Given the description of an element on the screen output the (x, y) to click on. 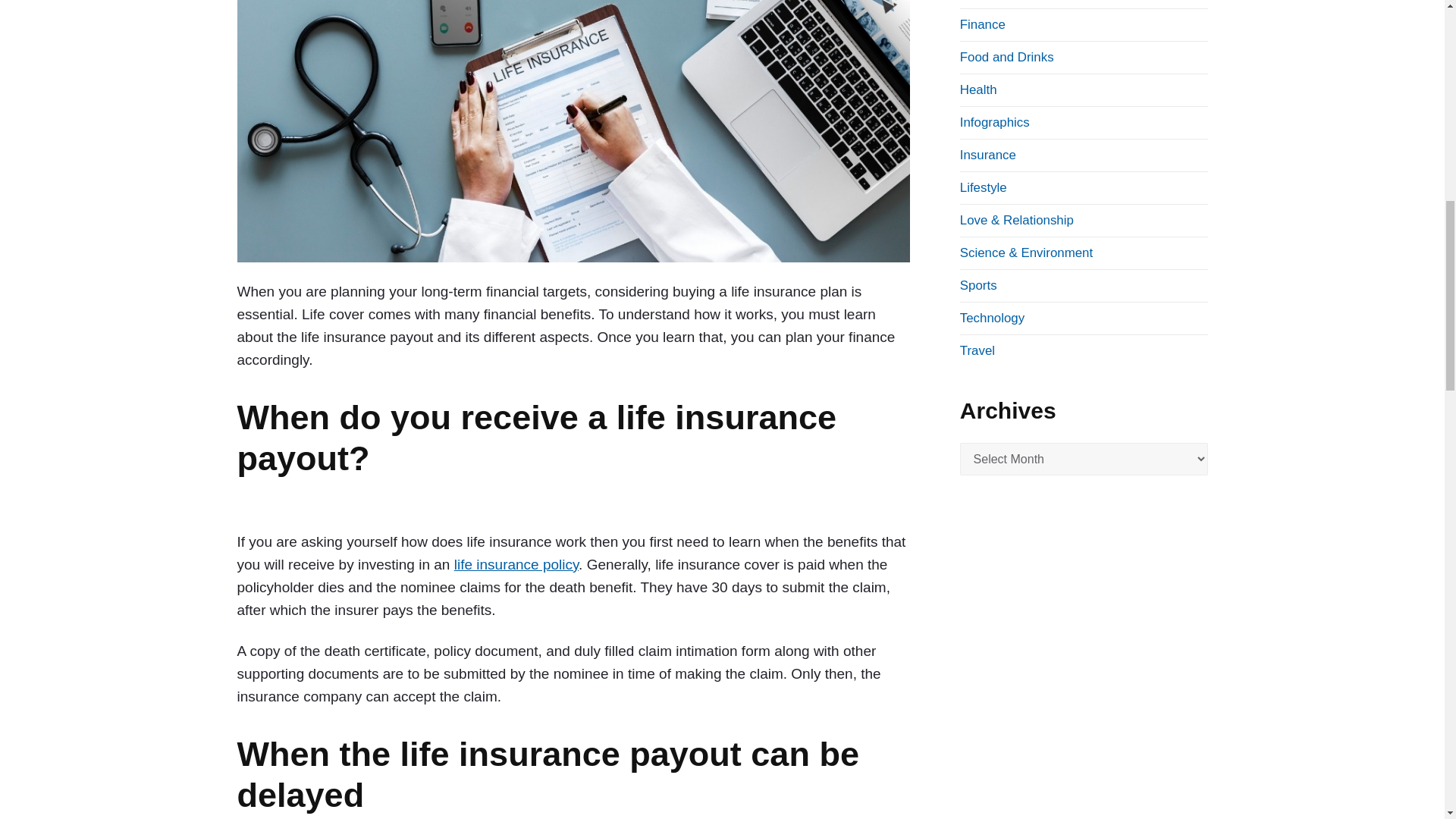
Insurance (987, 155)
life insurance policy (516, 564)
Food and Drinks (1006, 56)
Finance (982, 24)
Lifestyle (983, 187)
Infographics (994, 122)
Health (978, 89)
